Given the description of an element on the screen output the (x, y) to click on. 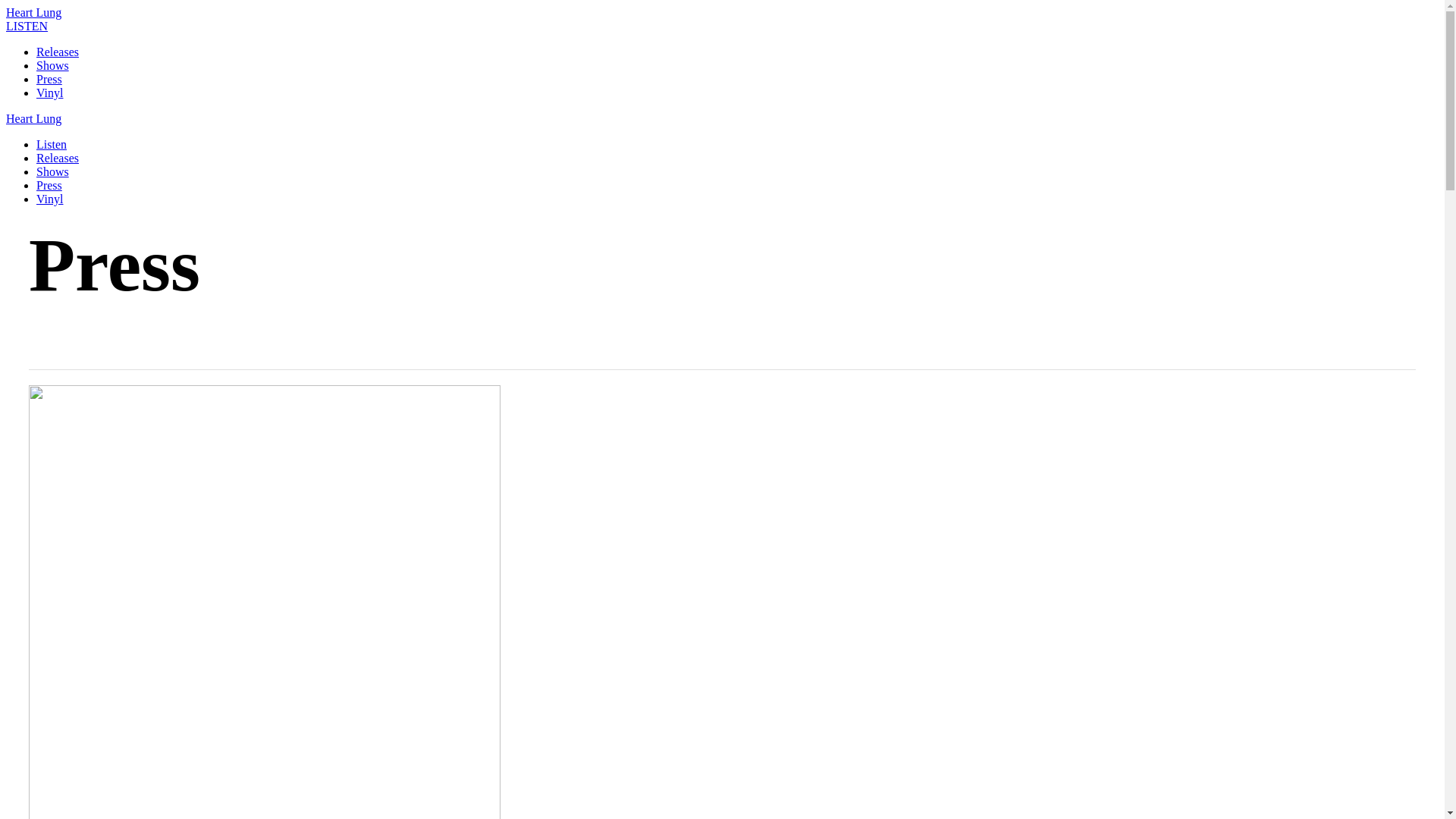
Vinyl Element type: text (49, 92)
Releases Element type: text (57, 51)
LISTEN Element type: text (26, 25)
Listen Element type: text (51, 144)
Press Element type: text (49, 184)
Heart Lung Element type: text (33, 12)
Releases Element type: text (57, 157)
Heart Lung Element type: text (33, 118)
Shows Element type: text (52, 65)
Shows Element type: text (52, 171)
Press Element type: text (49, 78)
Vinyl Element type: text (49, 198)
